Given the description of an element on the screen output the (x, y) to click on. 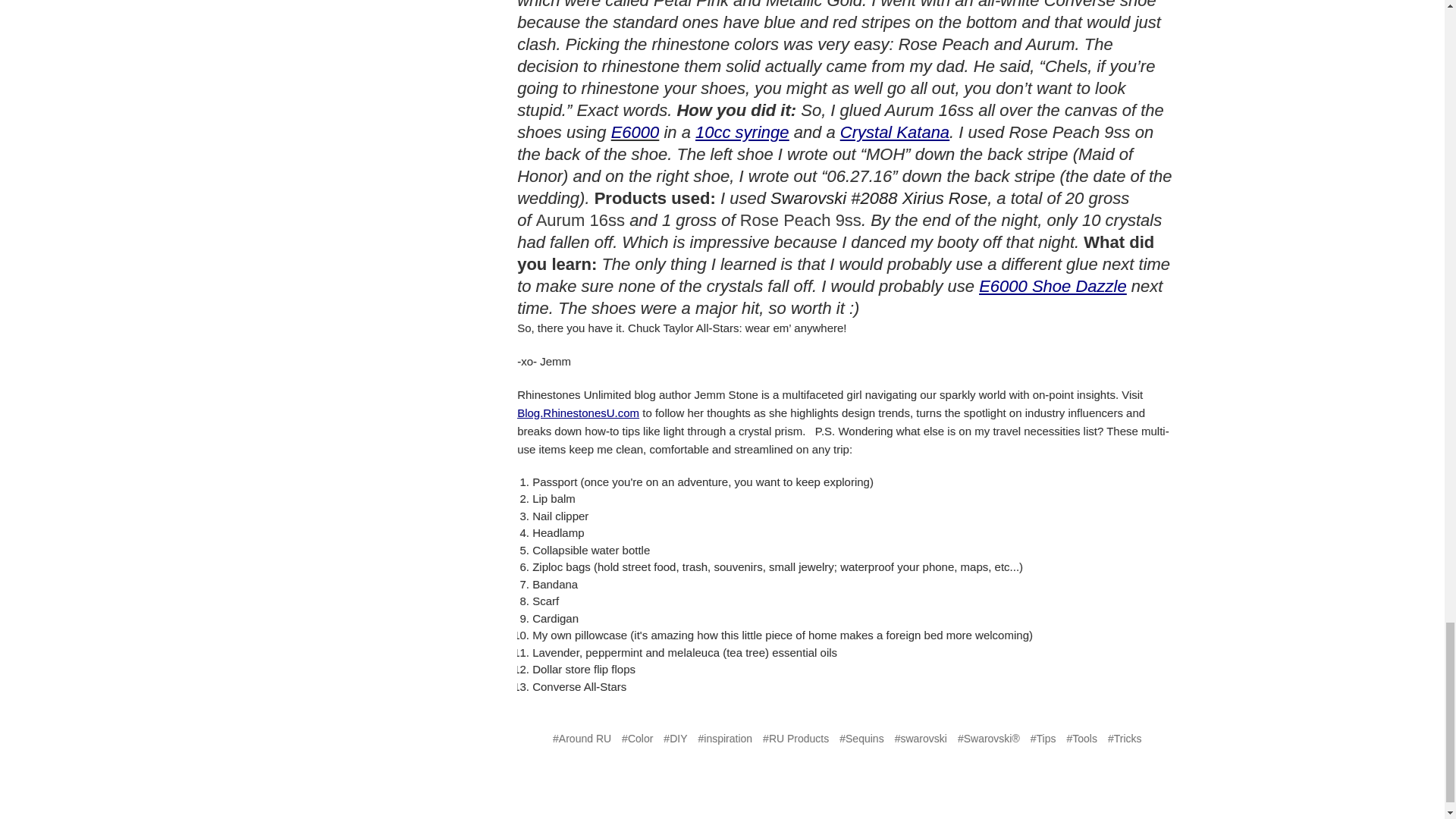
Pickup Tools from Rhinestones Unlimited (894, 131)
10cc syringe (742, 131)
Syringes from Rhinestones Unlimited (742, 131)
Glues from Rhinestones Unlimited (1051, 285)
Crystal Katana (894, 131)
